Given the description of an element on the screen output the (x, y) to click on. 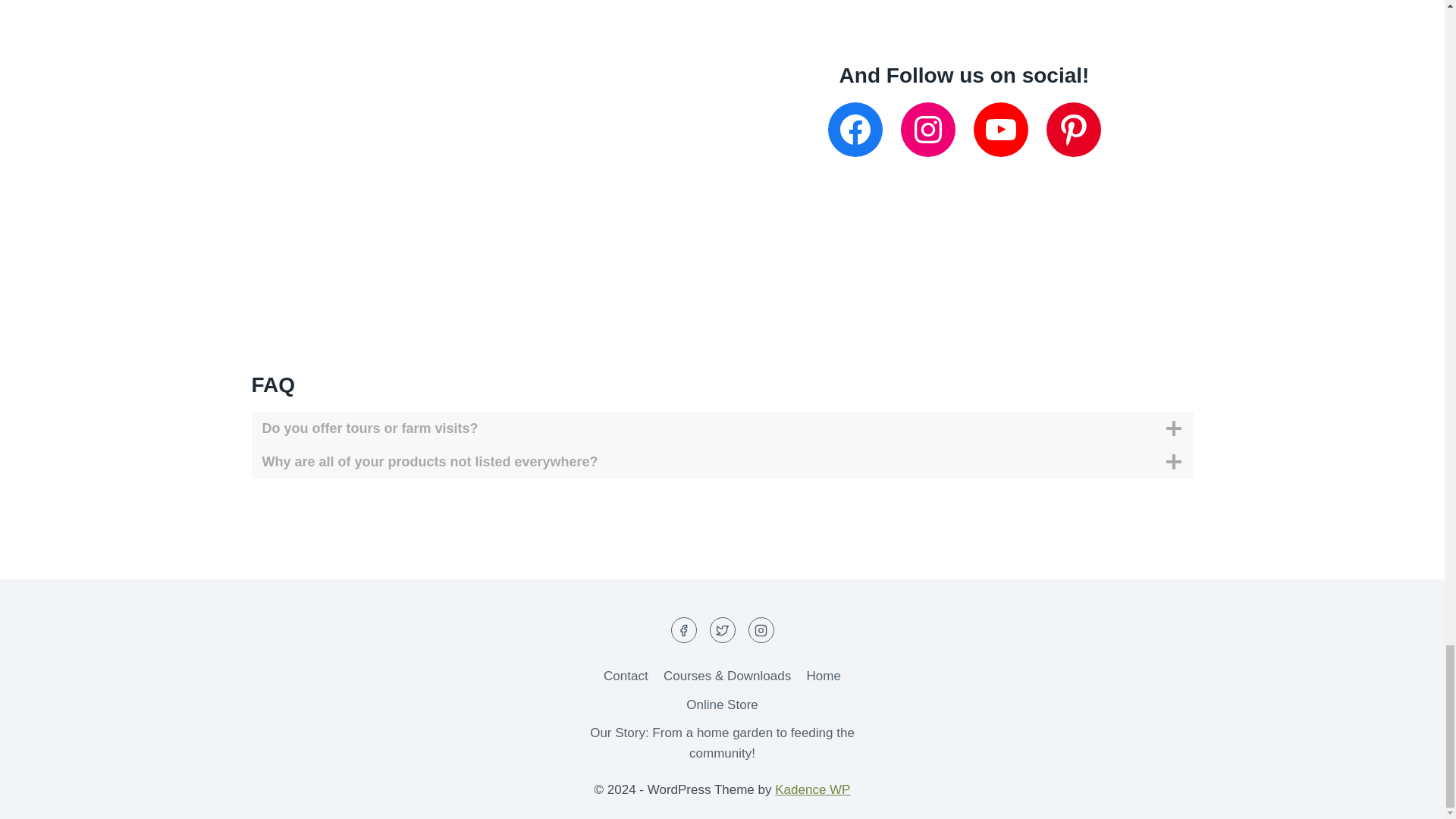
Instagram (928, 129)
Facebook (855, 129)
Pinterest (1073, 129)
Why are all of your products not listed everywhere? (722, 461)
Do you offer tours or farm visits?  (722, 428)
YouTube (1000, 129)
